Given the description of an element on the screen output the (x, y) to click on. 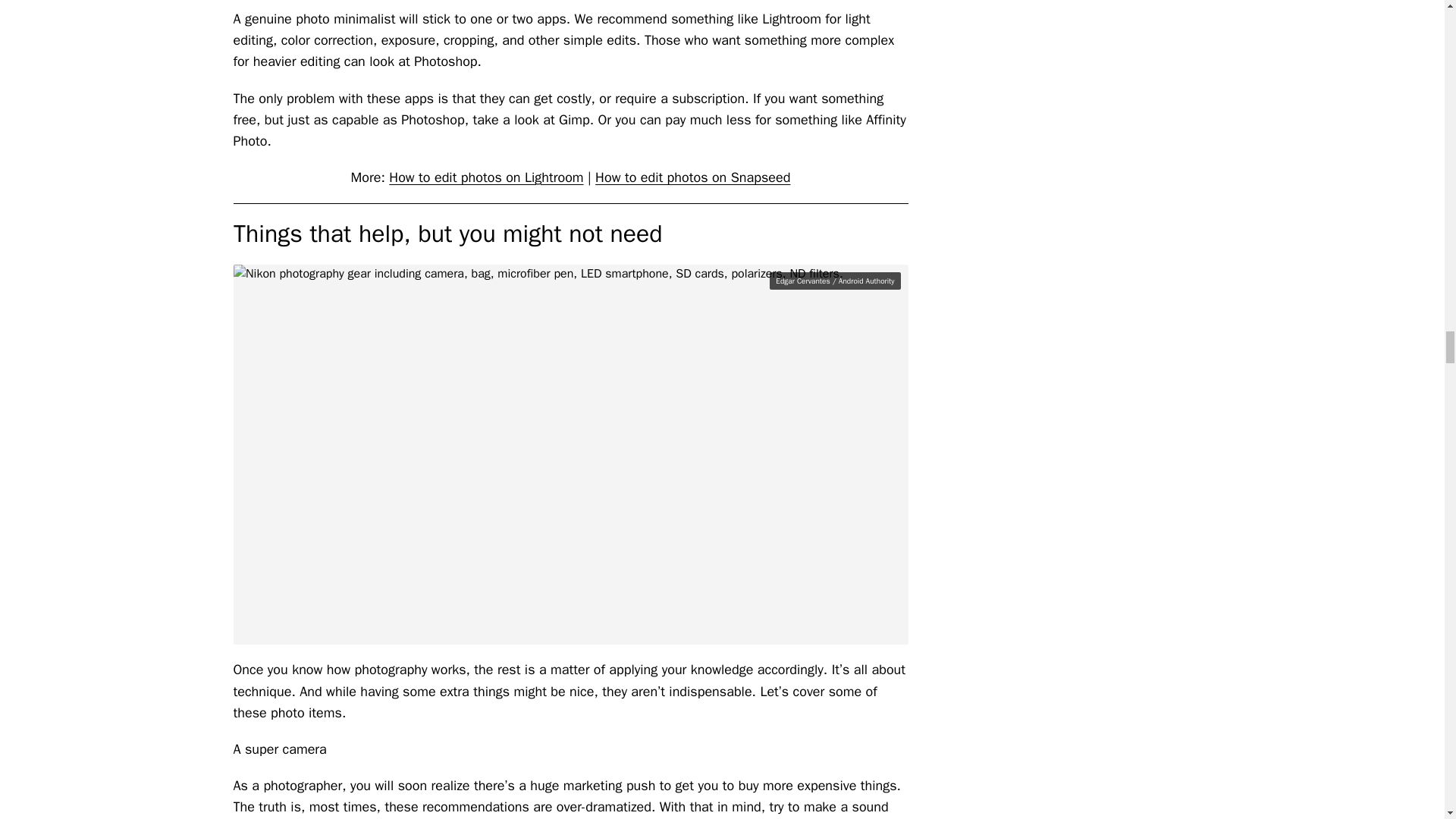
How to edit photos on Lightroom (485, 176)
How to edit photos on Snapseed (692, 176)
